Given the description of an element on the screen output the (x, y) to click on. 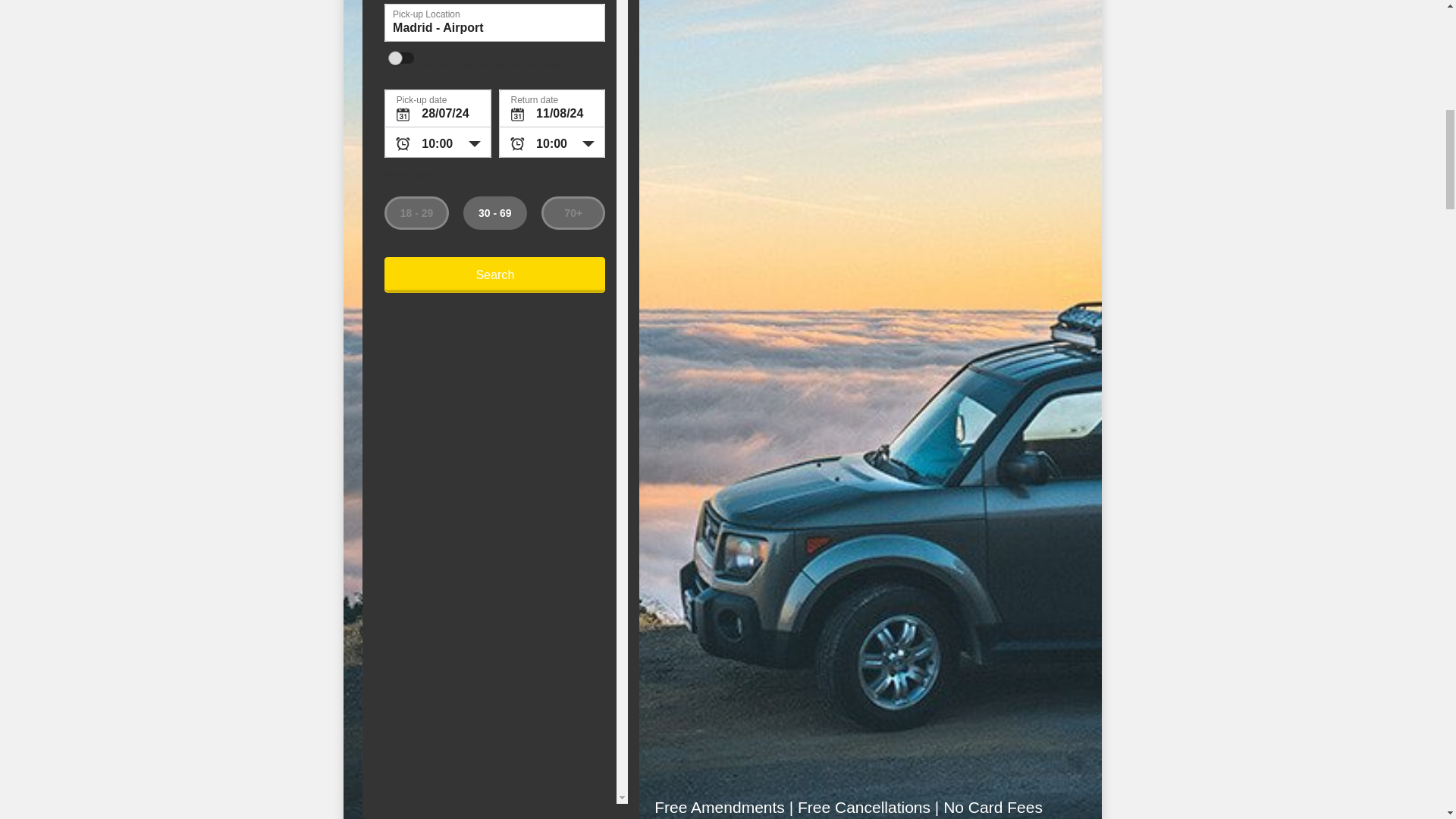
Madrid - Airport (494, 22)
10:00 (552, 142)
10:00 (437, 142)
